Given the description of an element on the screen output the (x, y) to click on. 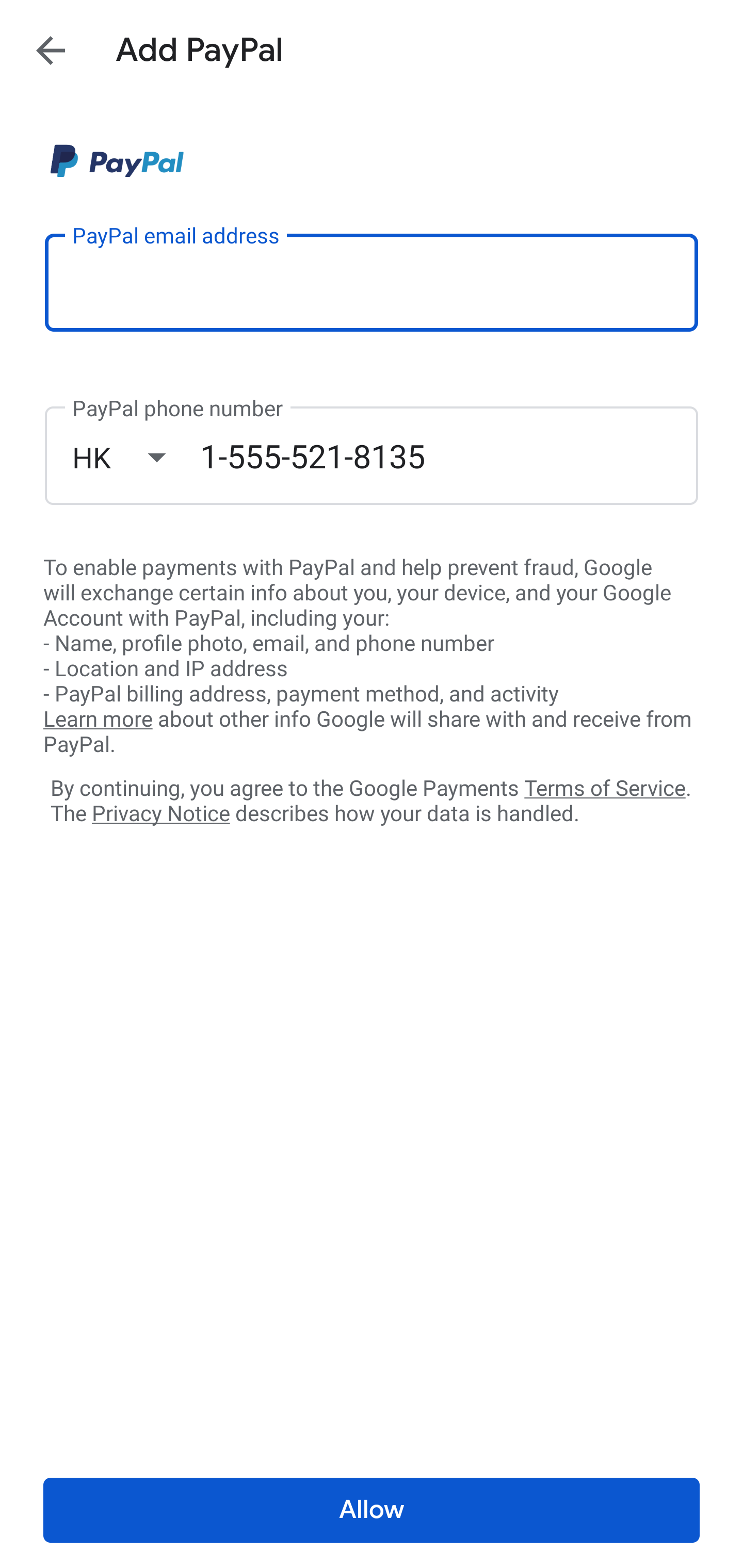
Navigate up (50, 50)
PayPal email address (371, 282)
HK (135, 456)
Learn more (97, 719)
Terms of Service (604, 787)
Privacy Notice (160, 814)
Allow (371, 1510)
